Given the description of an element on the screen output the (x, y) to click on. 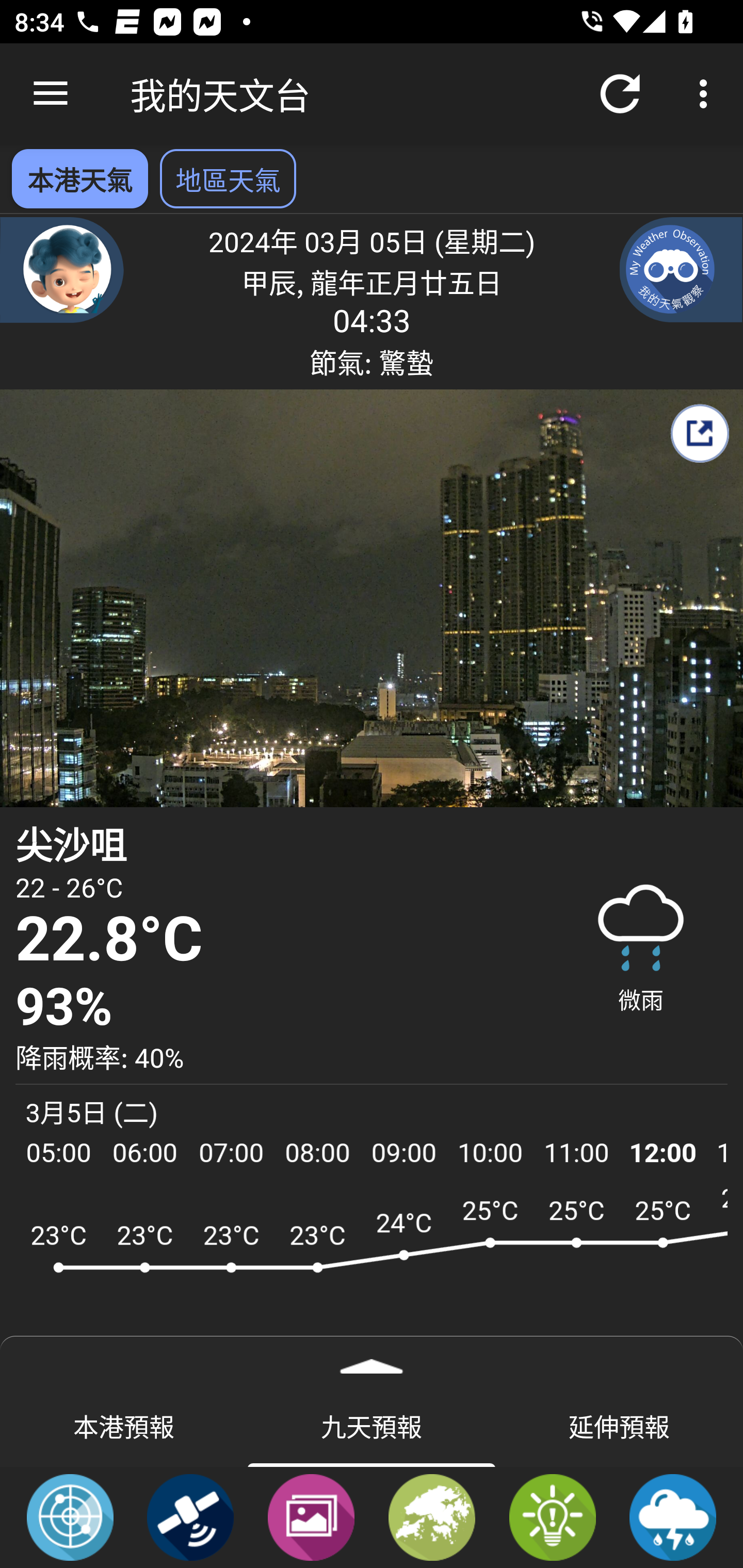
向上瀏覽 (50, 93)
重新整理 (619, 93)
更多選項 (706, 93)
本港天氣 已選擇 本港天氣 (79, 178)
地區天氣 選擇 地區天氣 (227, 178)
聊天機械人 (62, 269)
我的天氣觀察 (680, 269)
分享我的天氣報告 (699, 433)
22.8°C 氣溫22.8攝氏度 (276, 939)
93% 相對濕度百分之93 (276, 1007)
九天自動天氣預報 圖片
輕按進入內頁，即可了解詳細資料。 ARWF (371, 1275)
展開 (371, 1358)
本港預報 (123, 1424)
延伸預報 (619, 1424)
雷達圖像 衛星圖像 天氣照片 分區天氣 天氣提示 定點降雨及閃電預報 (371, 1517)
雷達圖像 (69, 1516)
衛星圖像 (190, 1516)
天氣照片 (310, 1516)
分區天氣 (431, 1516)
天氣提示 (551, 1516)
定點降雨及閃電預報 (672, 1516)
